Given the description of an element on the screen output the (x, y) to click on. 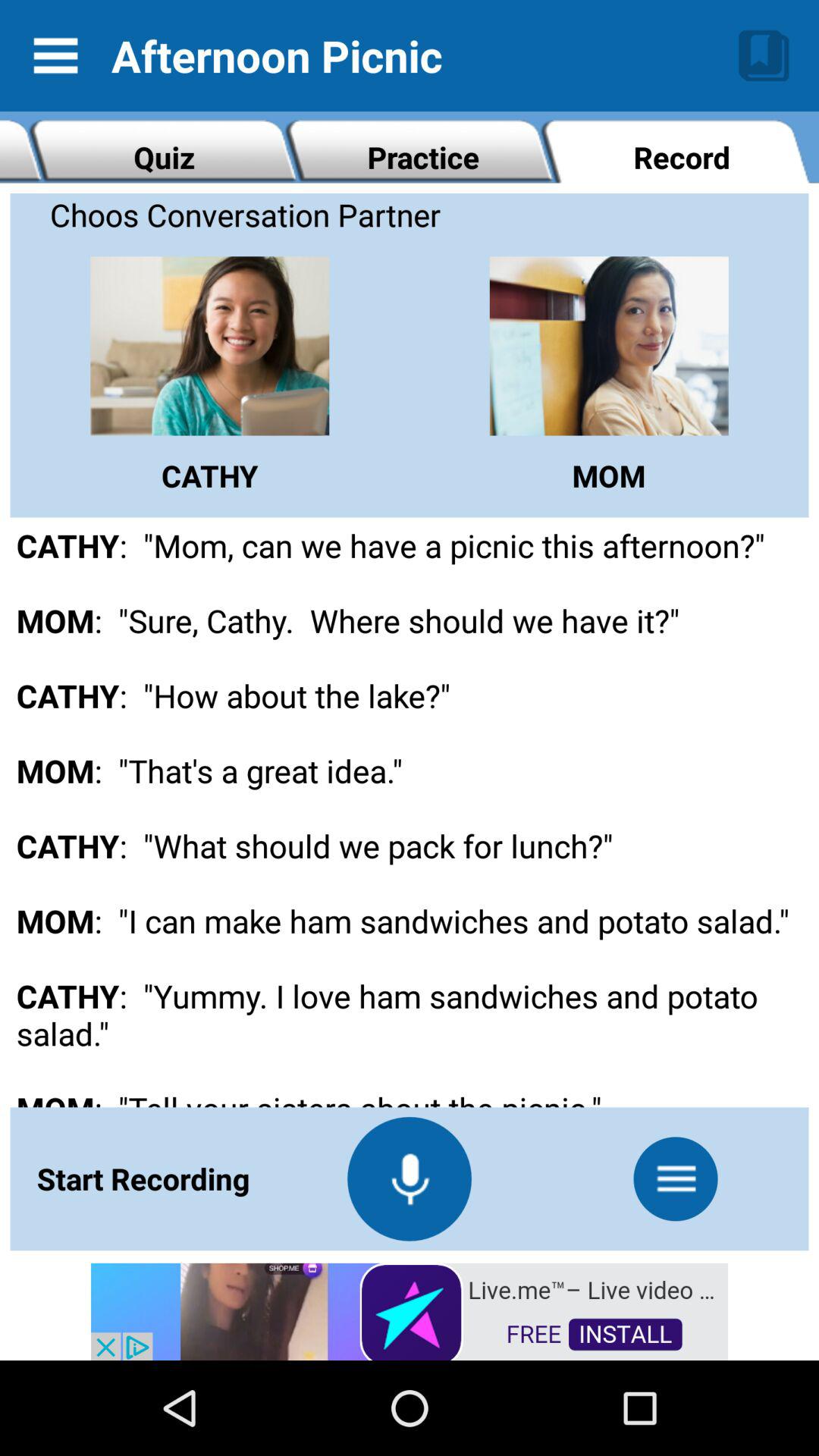
click to more option (675, 1178)
